Given the description of an element on the screen output the (x, y) to click on. 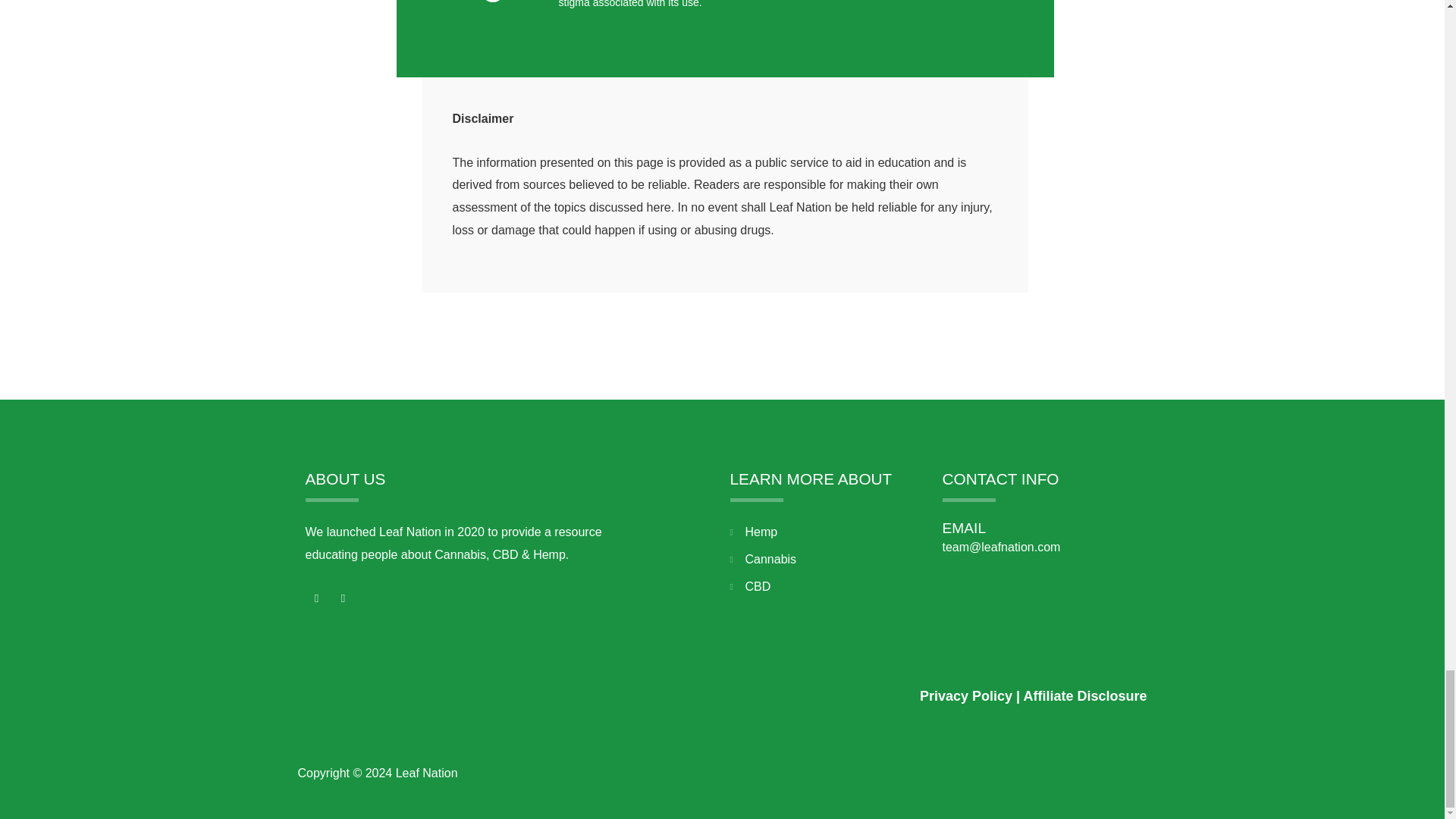
Hemp (827, 531)
Affiliate Disclosure (1085, 695)
Privacy Policy (965, 695)
Cannabis (827, 558)
leafnation-light-logo-final (410, 689)
CBD (827, 586)
